Given the description of an element on the screen output the (x, y) to click on. 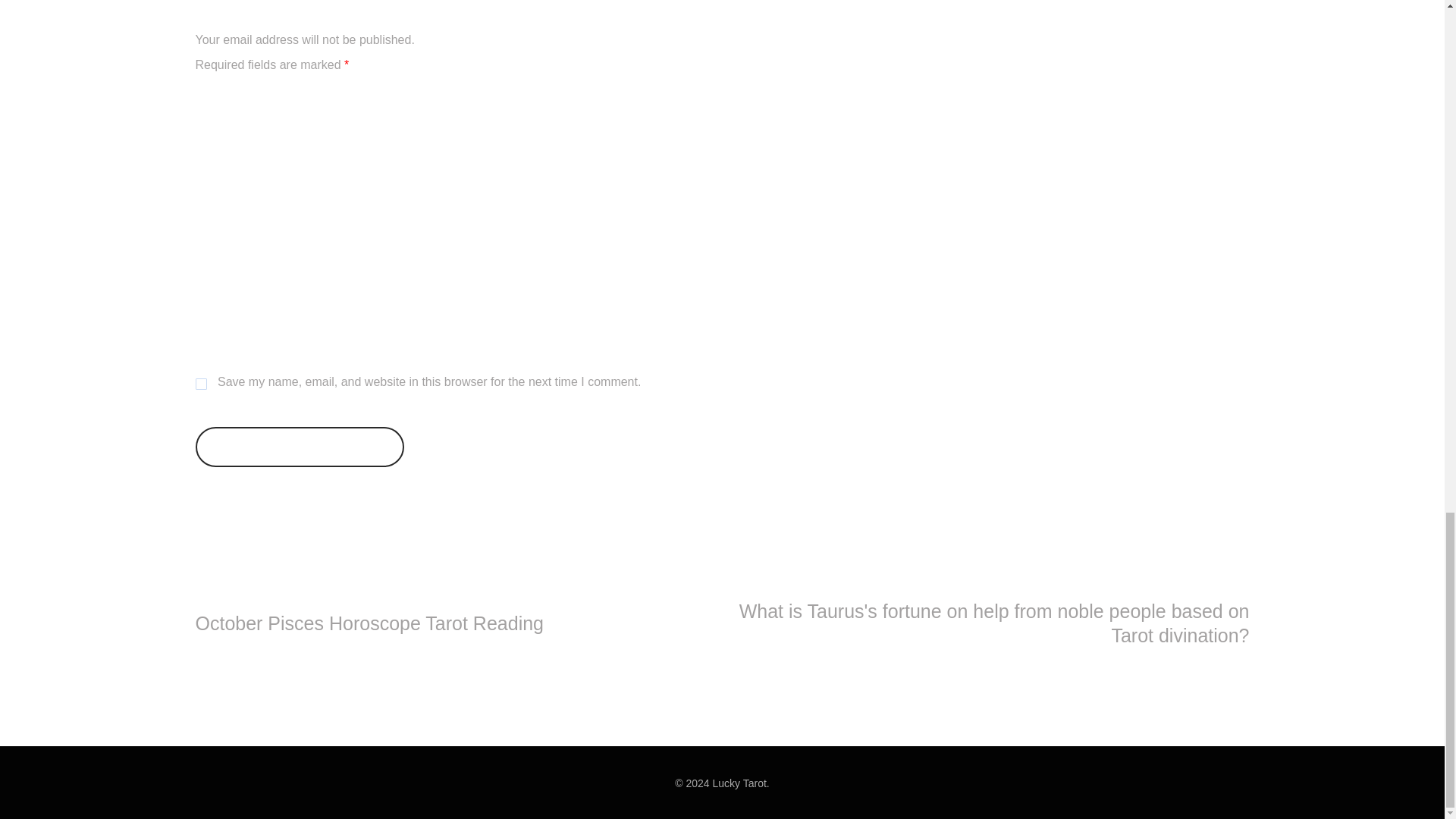
October Pisces Horoscope Tarot Reading (369, 622)
October Pisces Horoscope Tarot Reading (369, 622)
Post Comment (299, 446)
Post Comment (299, 446)
